Given the description of an element on the screen output the (x, y) to click on. 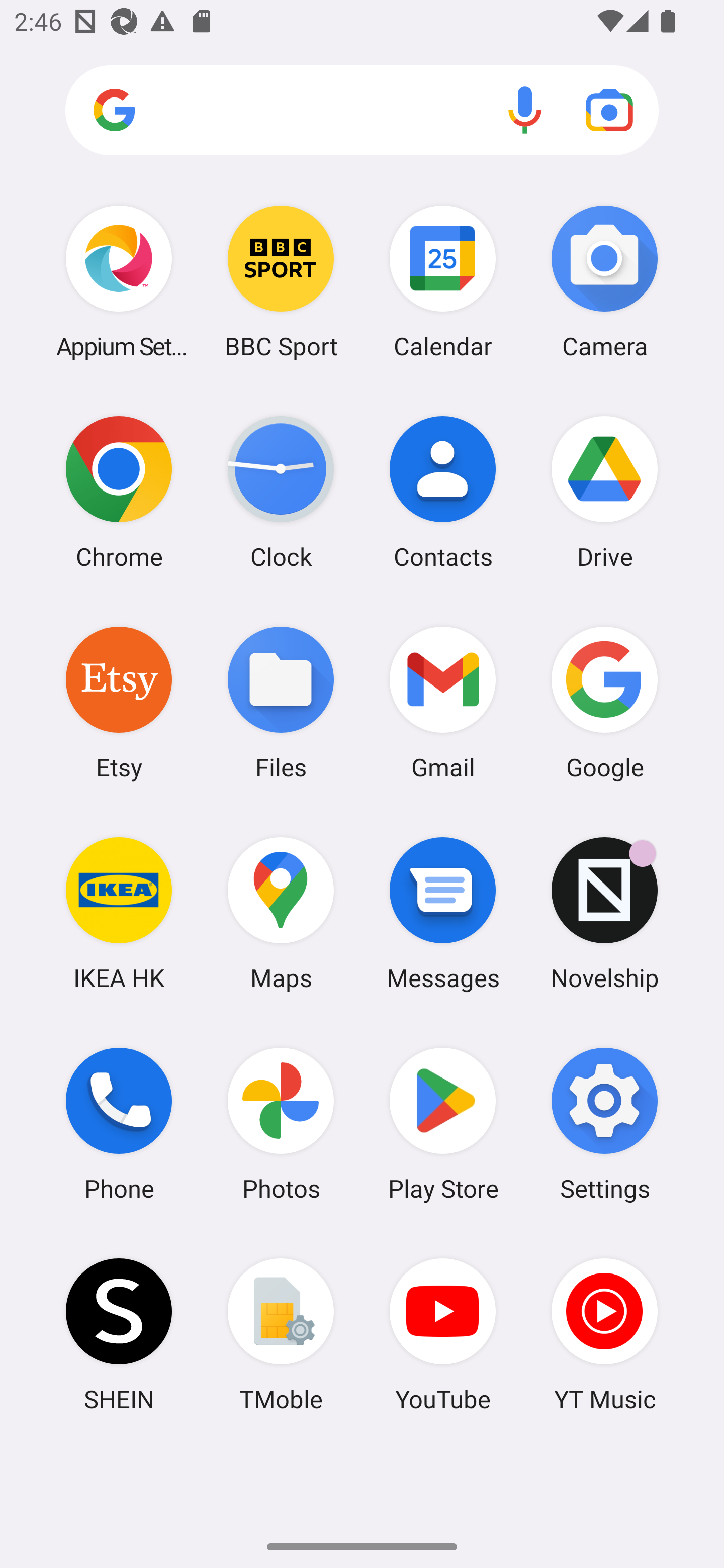
Search apps, web and more (361, 110)
Voice search (524, 109)
Google Lens (608, 109)
Appium Settings (118, 281)
BBC Sport (280, 281)
Calendar (443, 281)
Camera (604, 281)
Chrome (118, 492)
Clock (280, 492)
Contacts (443, 492)
Drive (604, 492)
Etsy (118, 702)
Files (280, 702)
Gmail (443, 702)
Google (604, 702)
IKEA HK (118, 913)
Maps (280, 913)
Messages (443, 913)
Novelship Novelship has 11 notifications (604, 913)
Phone (118, 1124)
Photos (280, 1124)
Play Store (443, 1124)
Settings (604, 1124)
SHEIN (118, 1334)
TMoble (280, 1334)
YouTube (443, 1334)
YT Music (604, 1334)
